Given the description of an element on the screen output the (x, y) to click on. 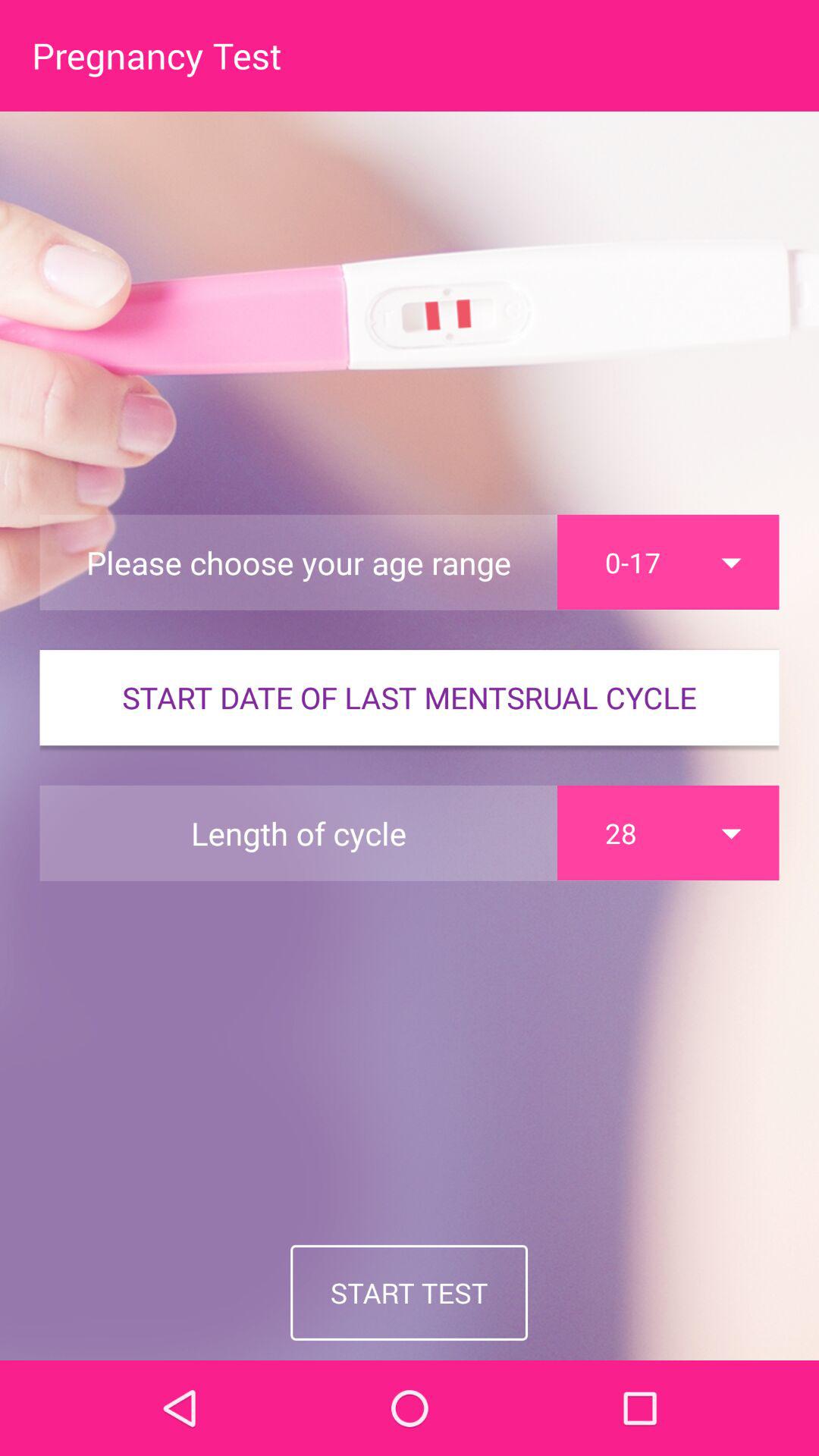
flip to start date of (409, 697)
